Given the description of an element on the screen output the (x, y) to click on. 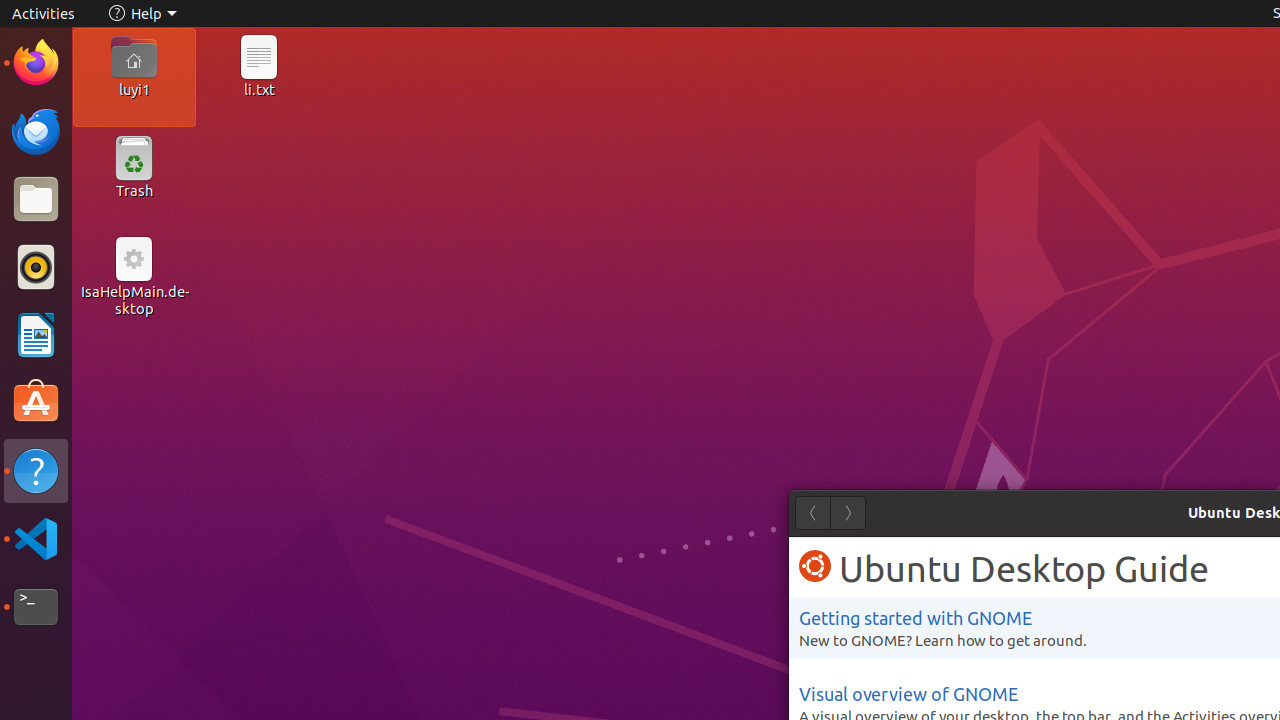
Firefox Web Browser Element type: push-button (36, 63)
IsaHelpMain.desktop Element type: label (133, 300)
Trash Element type: label (133, 191)
li.txt Element type: label (259, 89)
